Given the description of an element on the screen output the (x, y) to click on. 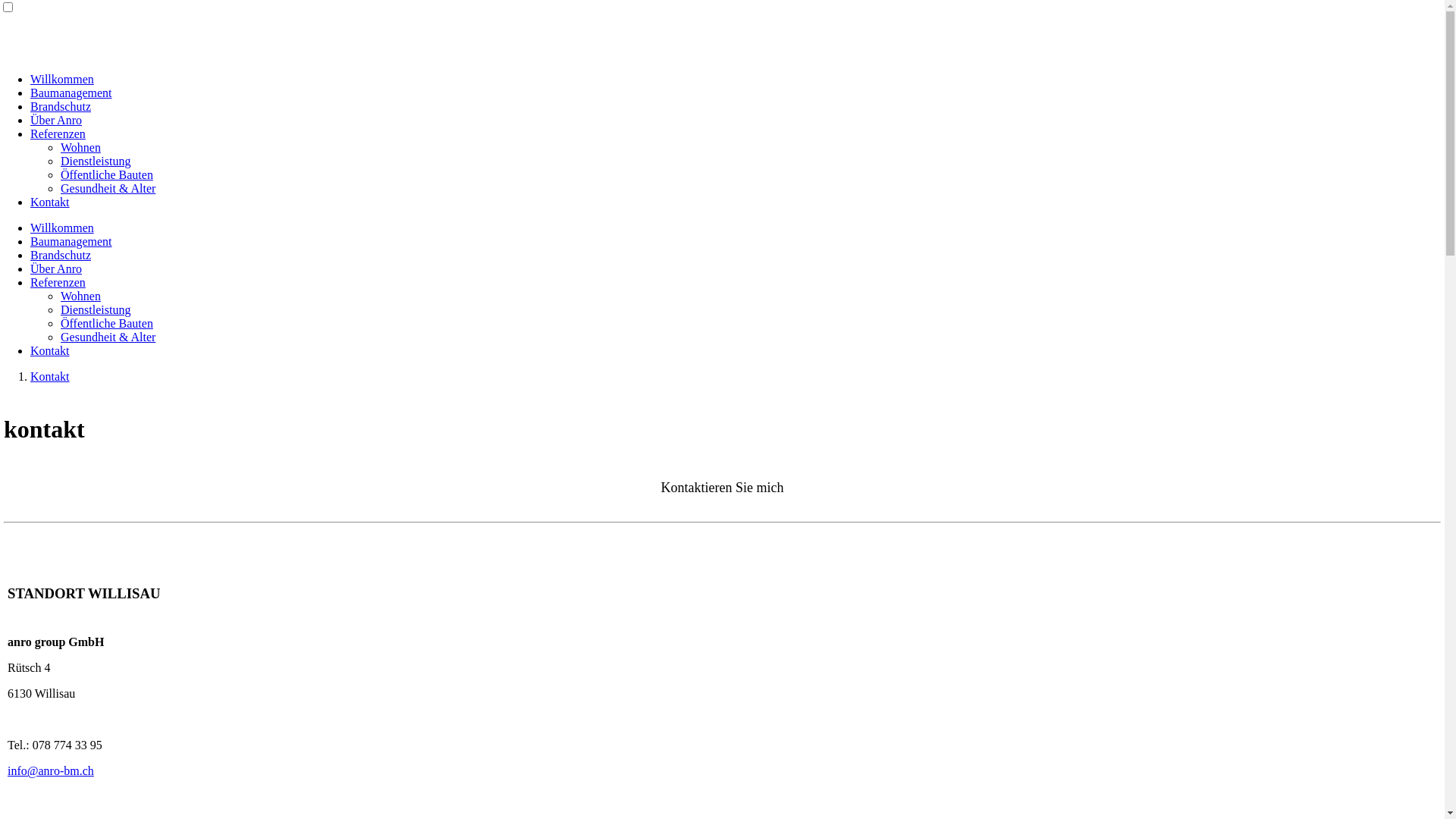
Kontakt Element type: text (49, 201)
Gesundheit & Alter Element type: text (107, 336)
Kontakt Element type: text (49, 350)
Referenzen Element type: text (57, 133)
info@anro-bm.ch Element type: text (50, 770)
Wohnen Element type: text (80, 147)
Willkommen Element type: text (62, 227)
Baumanagement Element type: text (71, 241)
Referenzen Element type: text (57, 282)
Wohnen Element type: text (80, 295)
Brandschutz Element type: text (60, 106)
Gesundheit & Alter Element type: text (107, 188)
Dienstleistung Element type: text (95, 309)
Kontakt Element type: text (49, 376)
Brandschutz Element type: text (60, 254)
Willkommen Element type: text (62, 78)
Baumanagement Element type: text (71, 92)
Dienstleistung Element type: text (95, 160)
